Given the description of an element on the screen output the (x, y) to click on. 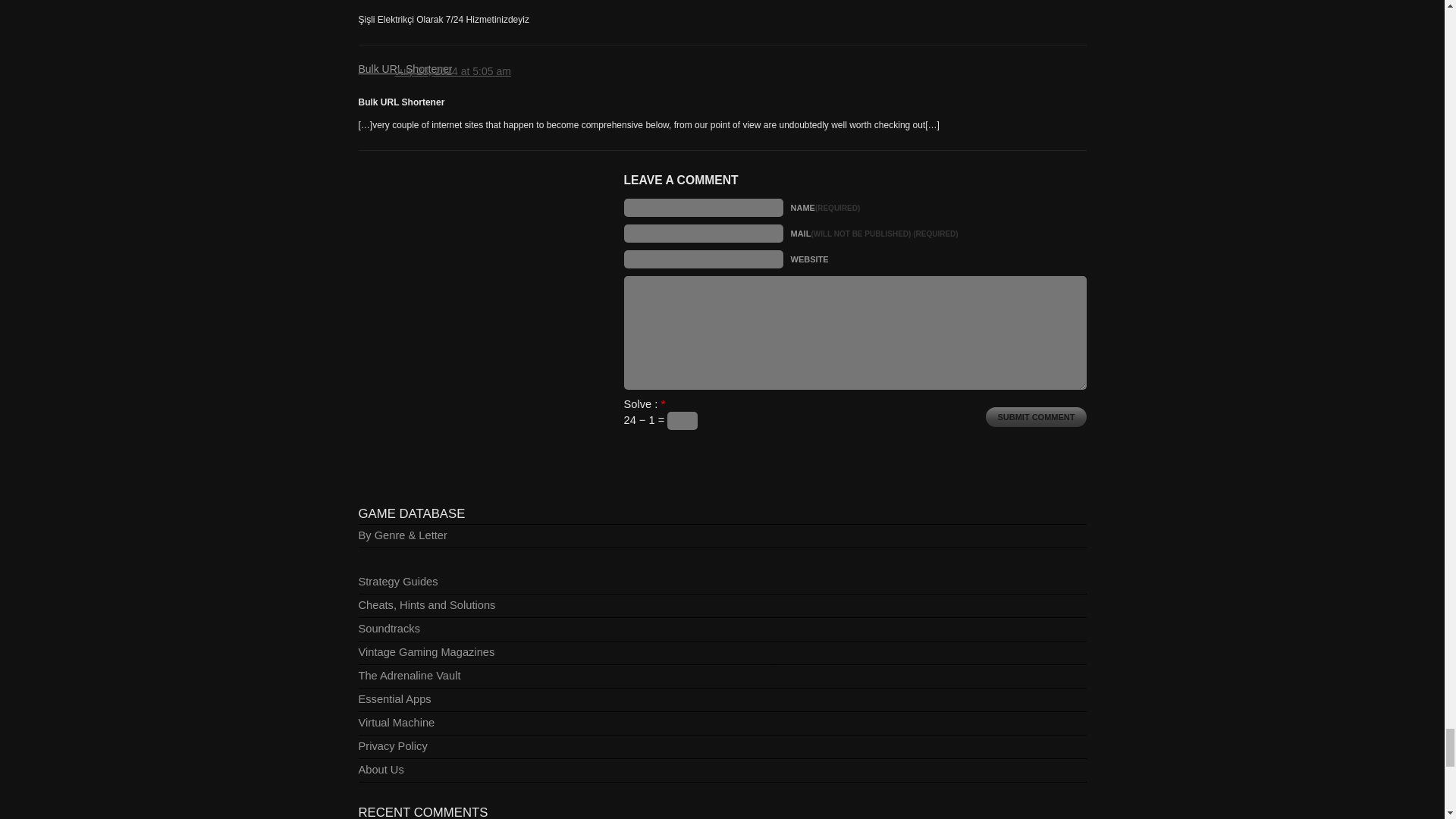
SUBMIT COMMENT (1035, 416)
